Given the description of an element on the screen output the (x, y) to click on. 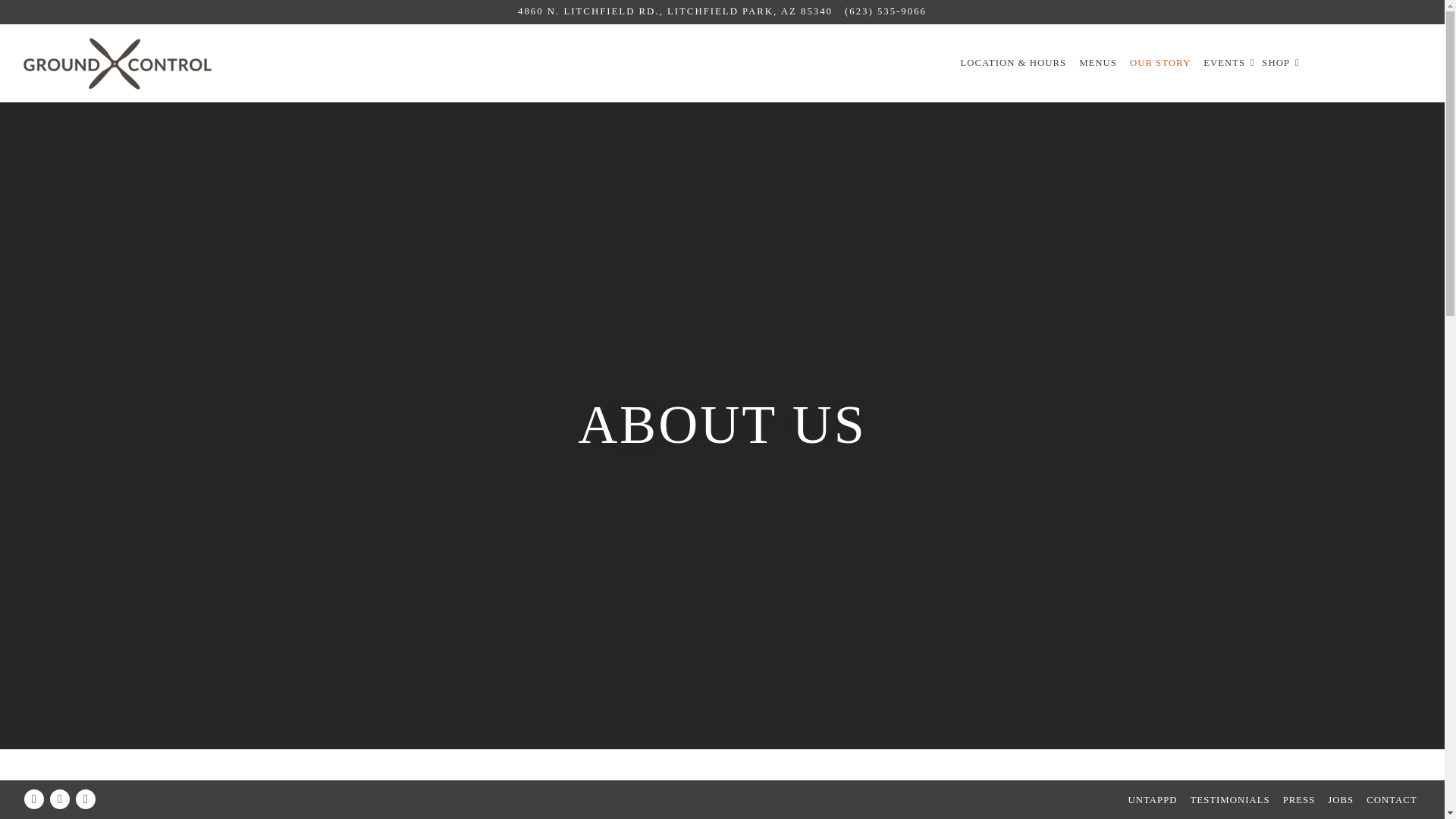
4860 N. LITCHFIELD RD., LITCHFIELD PARK, AZ 85340 (675, 11)
OUR STORY (1160, 63)
ORDER ONLINE (1364, 64)
SHOP (1276, 63)
MENUS (1098, 63)
EVENTS (1224, 63)
Facebook (33, 799)
